Given the description of an element on the screen output the (x, y) to click on. 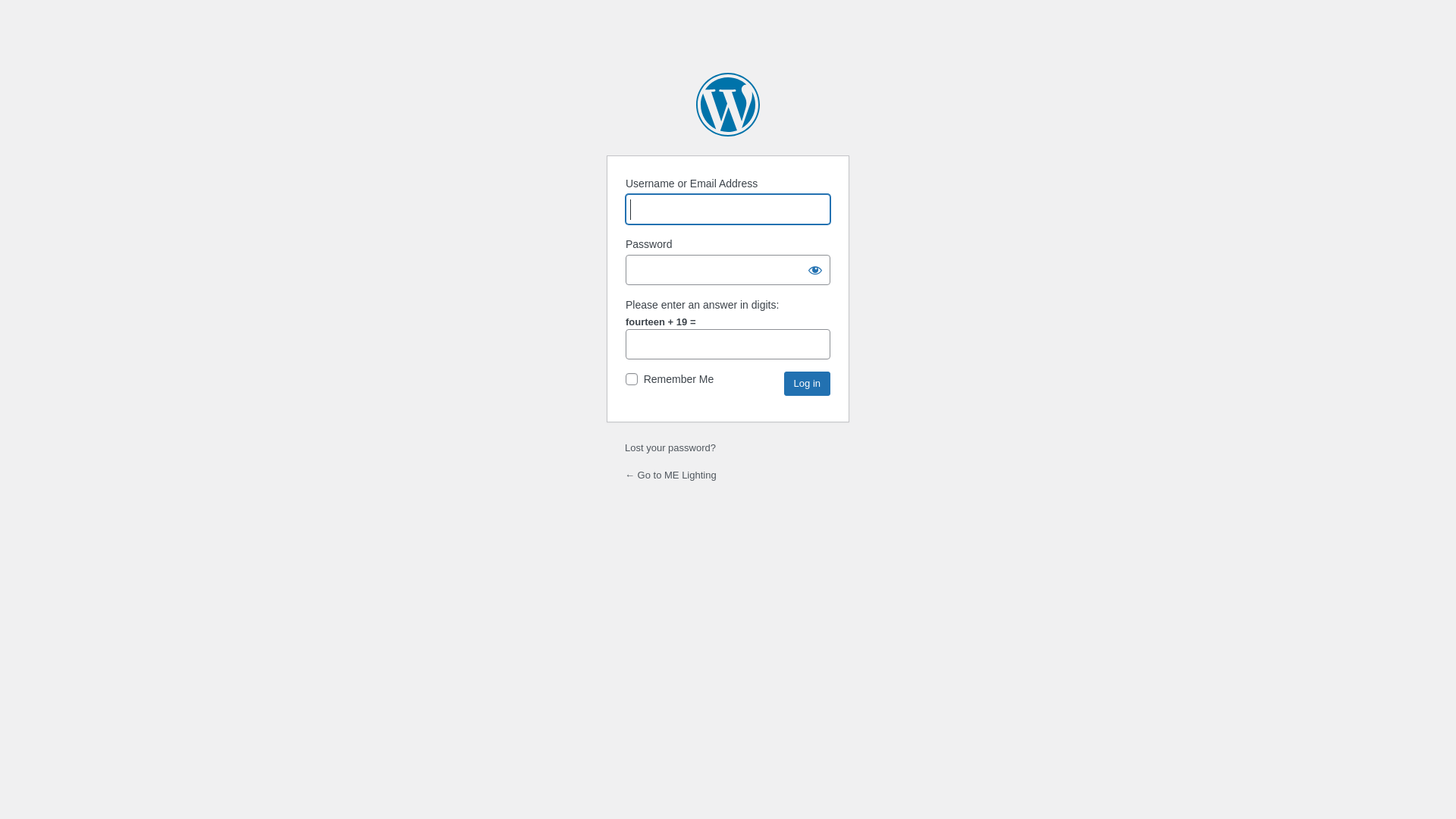
Lost your password? Element type: text (669, 447)
Log in Element type: text (807, 383)
Powered by WordPress Element type: text (727, 104)
